Given the description of an element on the screen output the (x, y) to click on. 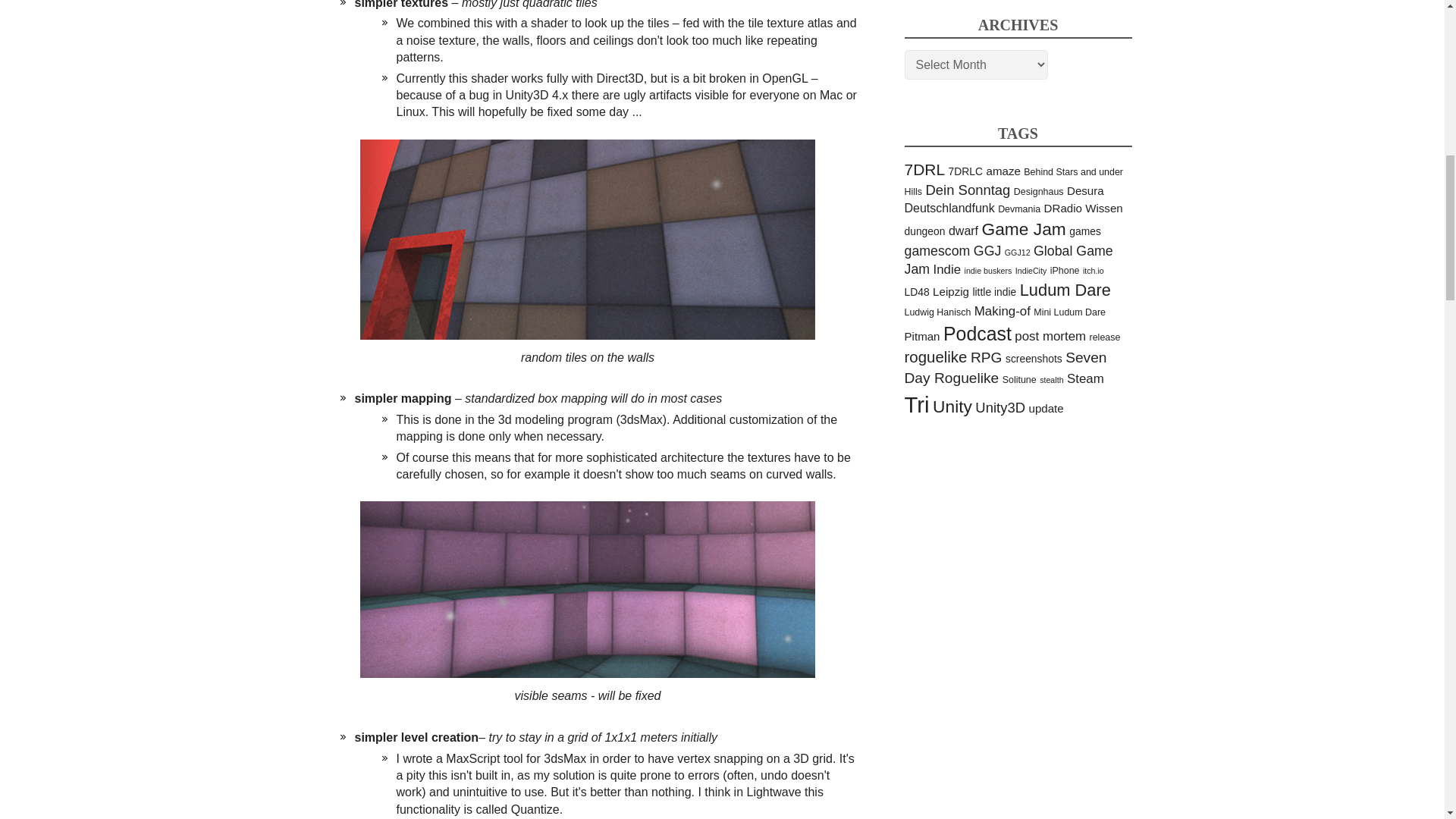
7DRLC (965, 171)
7DRL (924, 169)
